Given the description of an element on the screen output the (x, y) to click on. 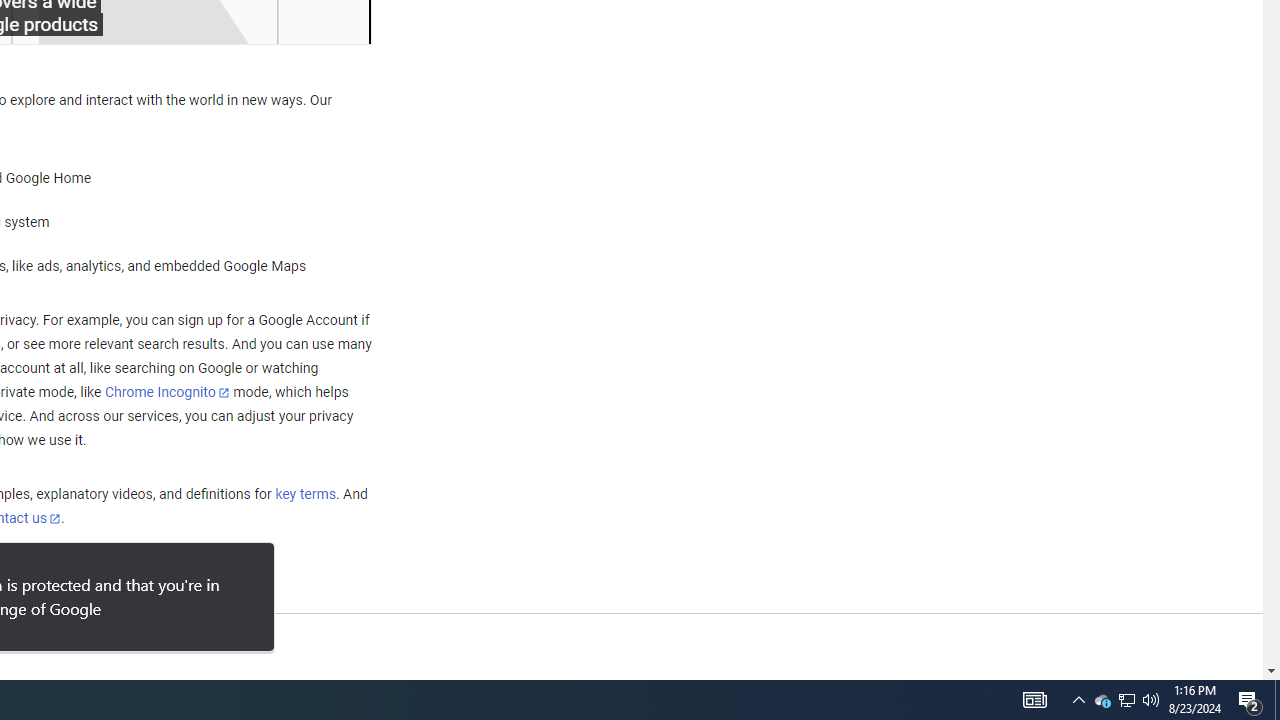
Chrome Incognito (166, 392)
Full screen (f) (338, 22)
Subtitles/closed captions unavailable (191, 22)
Watch on YouTube (285, 22)
key terms (305, 494)
